Given the description of an element on the screen output the (x, y) to click on. 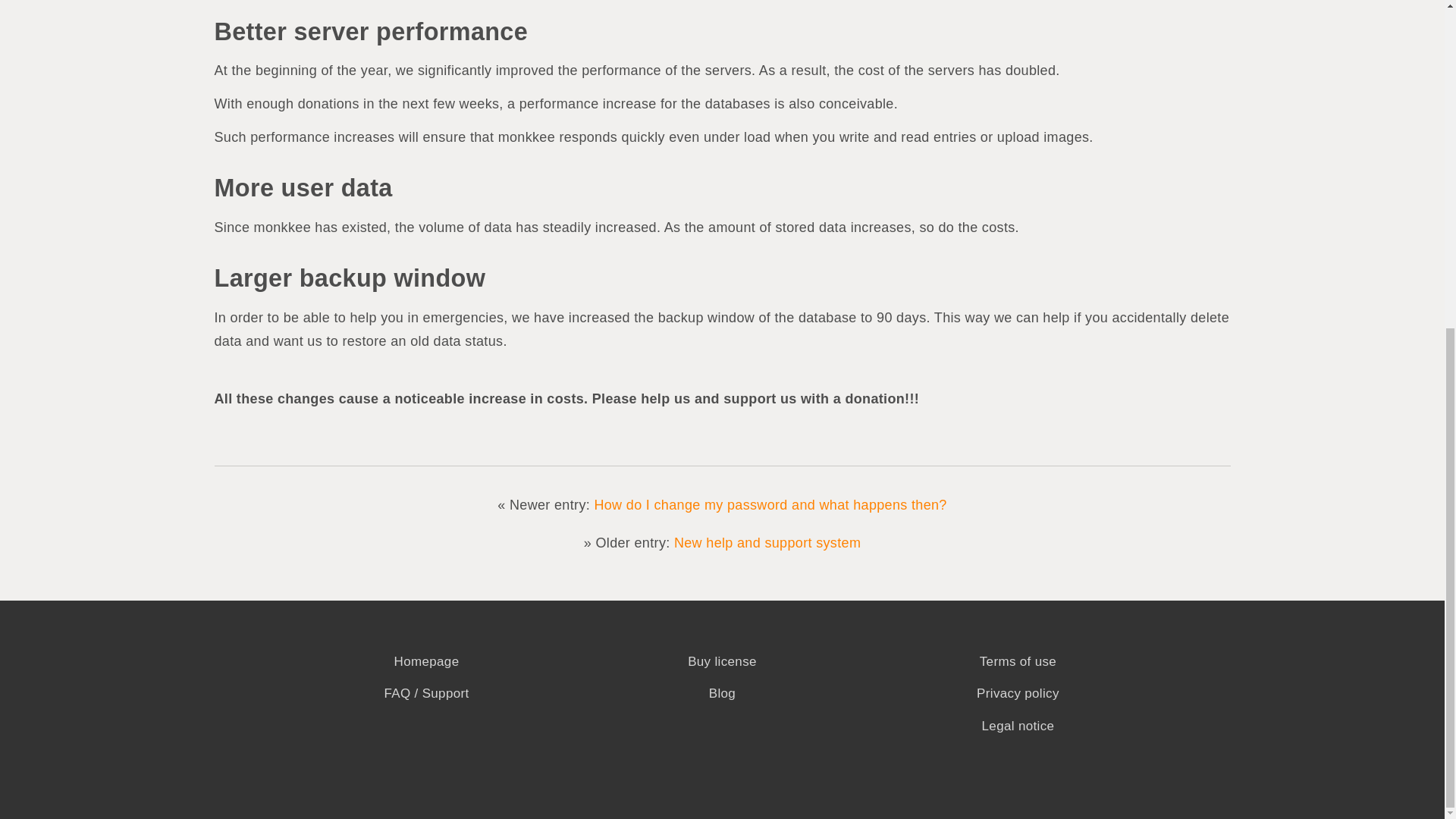
Homepage (427, 661)
Terms of use (1018, 661)
Blog (722, 693)
Privacy policy (1017, 693)
New help and support system (767, 541)
Buy license (722, 661)
How do I change my password and what happens then? (770, 504)
Legal notice (1017, 725)
